Given the description of an element on the screen output the (x, y) to click on. 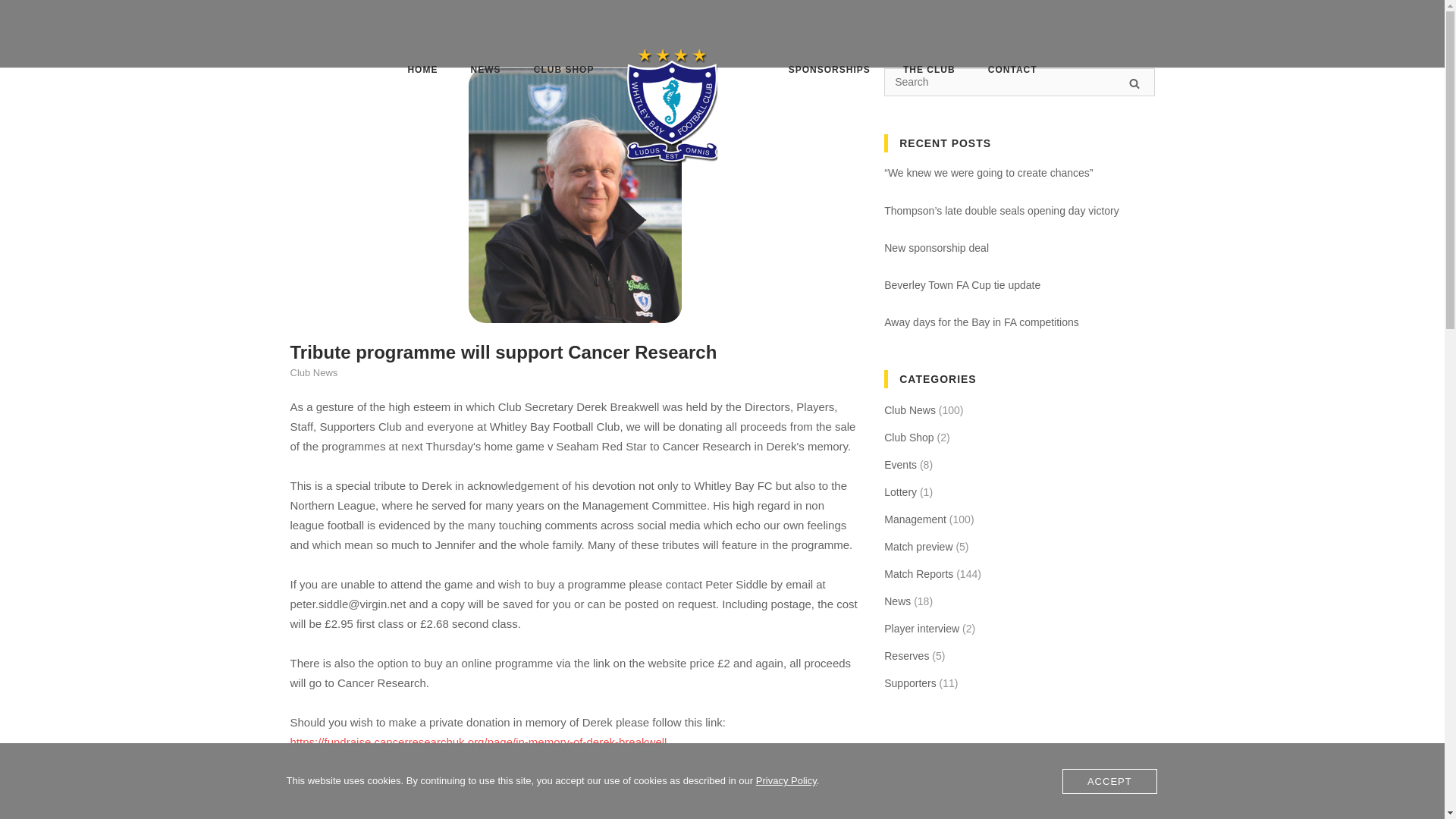
Beverley Town FA Cup tie update (962, 285)
SPONSORSHIPS (829, 72)
CONTACT (1012, 72)
Reserves (905, 655)
HOME (422, 72)
Player interview (921, 628)
New sponsorship deal (935, 247)
CLUB SHOP (564, 72)
Club Shop (908, 436)
Lottery (900, 491)
THE CLUB (928, 71)
Management (914, 518)
News (897, 600)
Club News (313, 372)
Match Reports (918, 573)
